Given the description of an element on the screen output the (x, y) to click on. 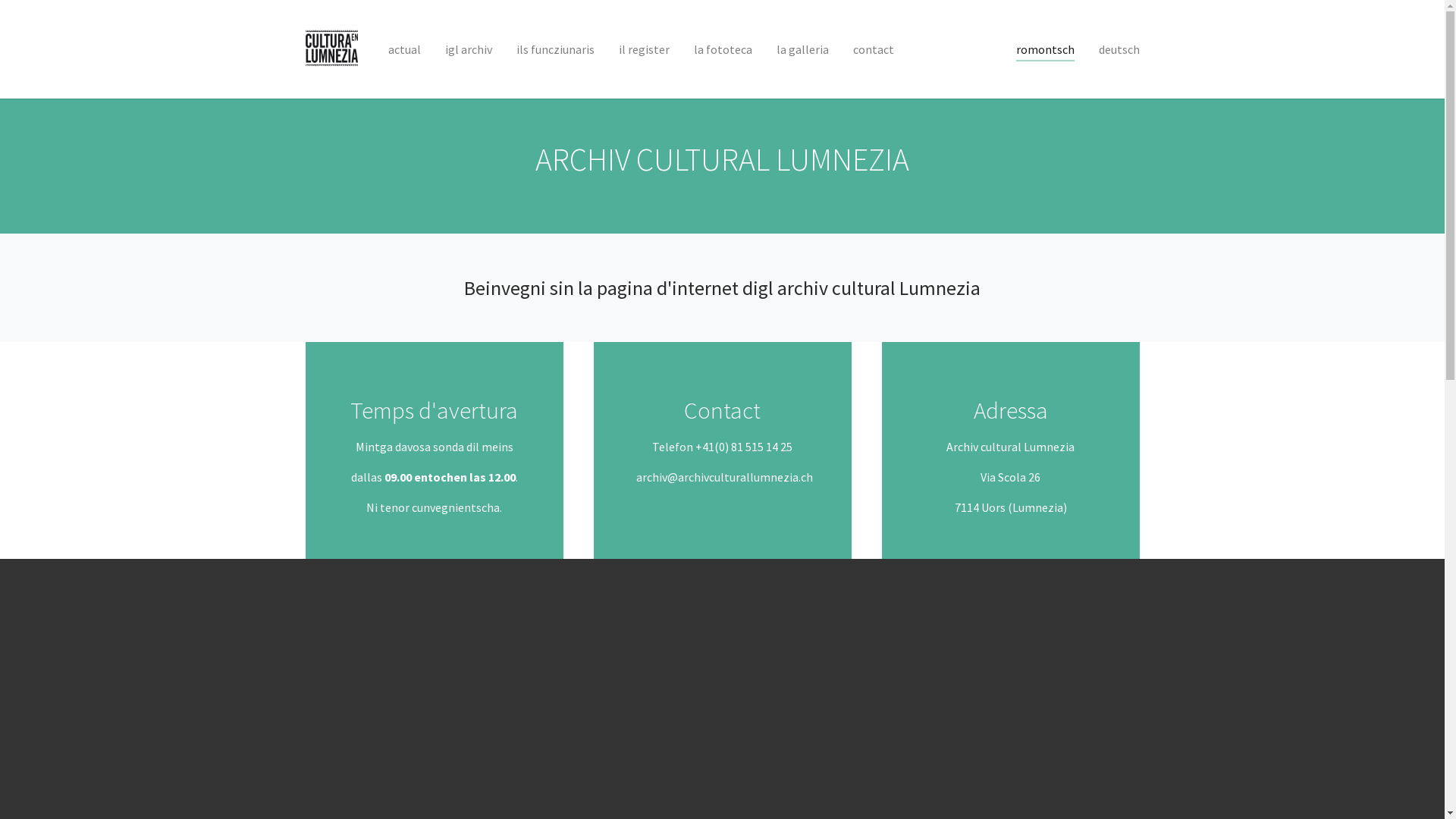
Home Element type: hover (330, 49)
contact Element type: text (873, 49)
la galleria Element type: text (802, 49)
la fototeca Element type: text (722, 49)
actual Element type: text (404, 49)
il register Element type: text (643, 49)
ils funcziunaris Element type: text (555, 49)
archiv@archivculturallumnezia.ch Element type: text (723, 476)
romontsch Element type: text (1045, 49)
igl archiv Element type: text (468, 49)
deutsch Element type: text (1118, 49)
